Given the description of an element on the screen output the (x, y) to click on. 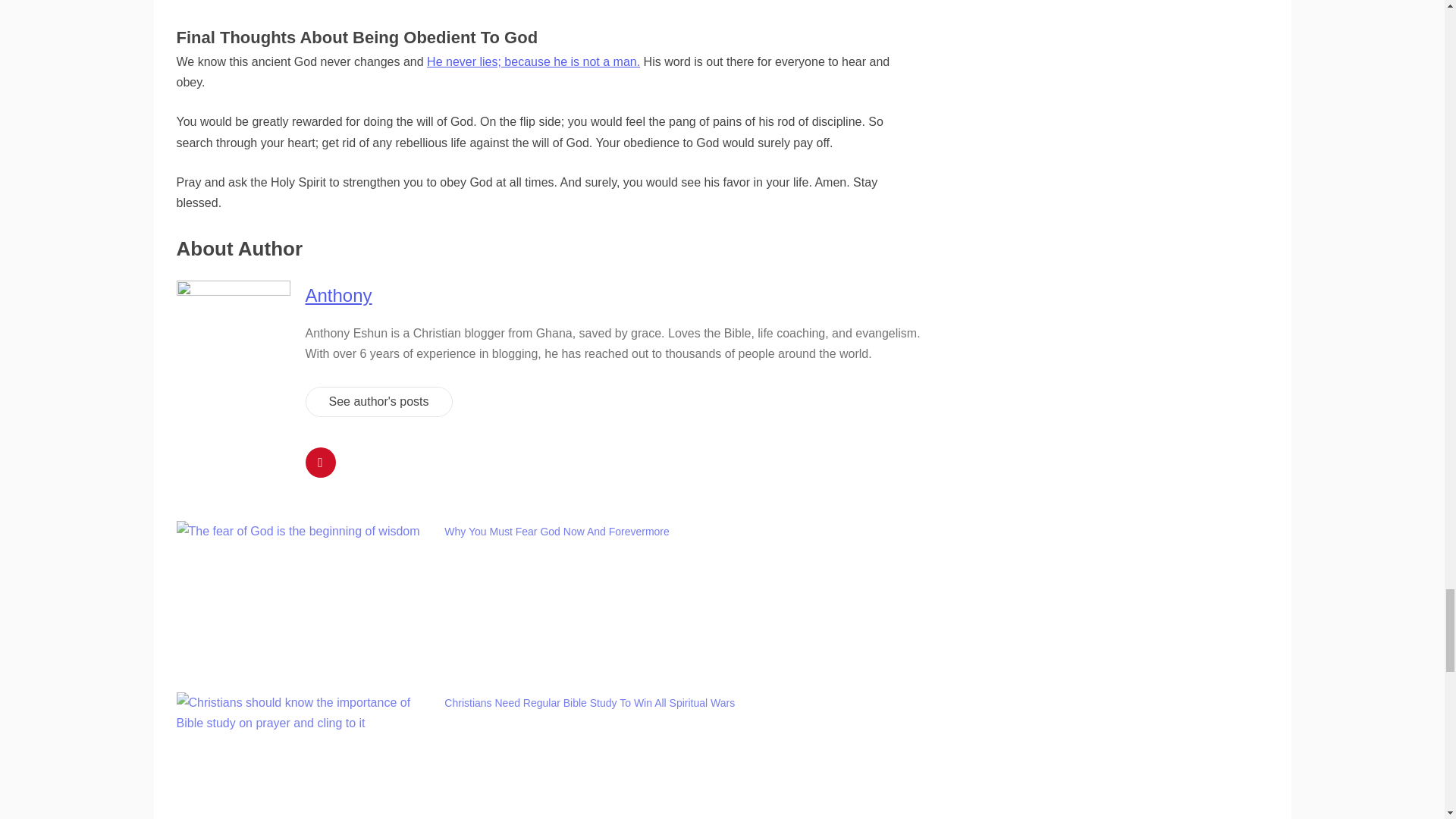
Anthony (337, 295)
Why You Must Fear God Now And Forevermore (556, 531)
See author's posts (377, 401)
Why You Must Fear God Now And Forevermore (556, 531)
He never lies; because he is not a man. (533, 61)
